Given the description of an element on the screen output the (x, y) to click on. 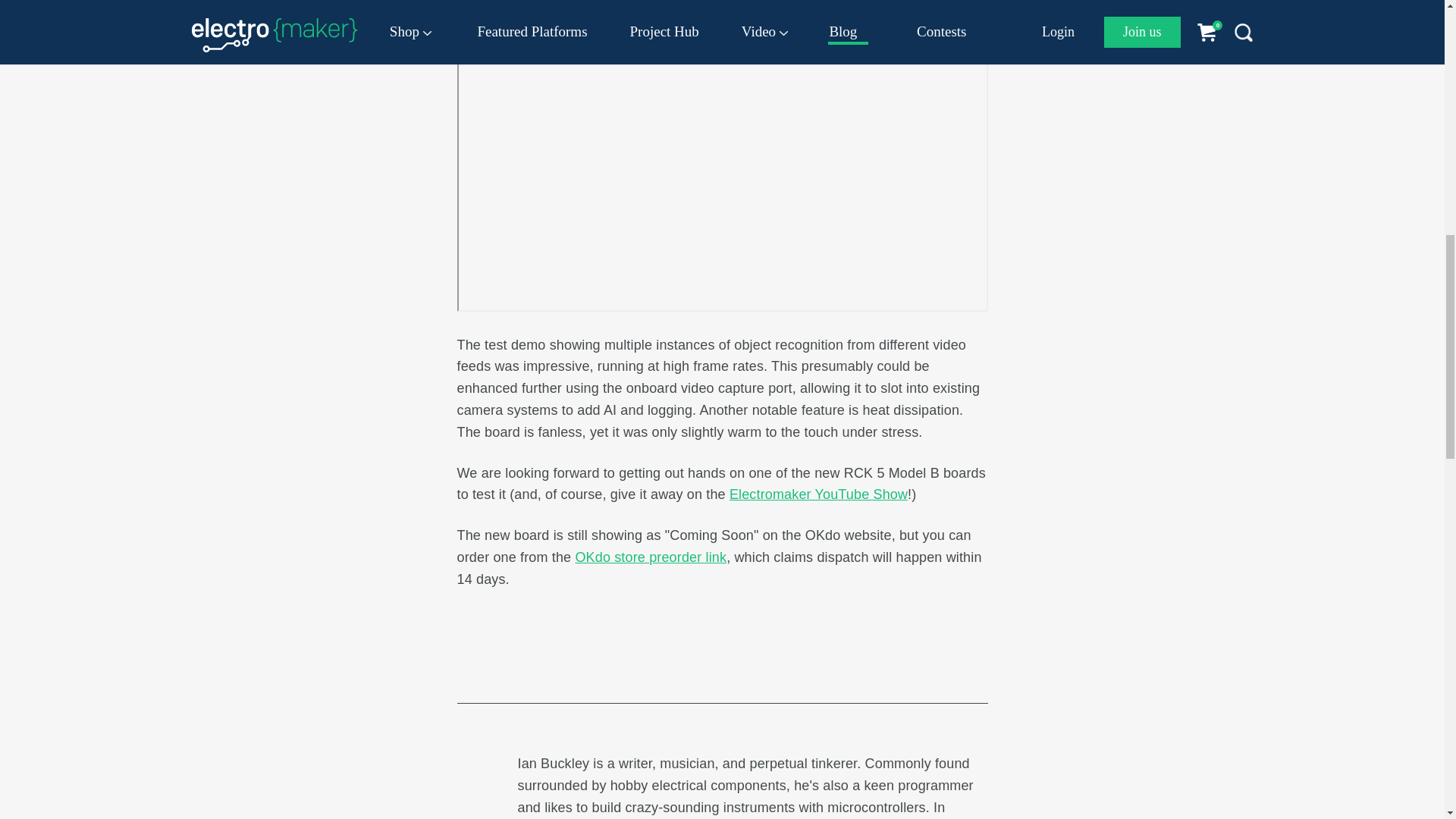
Share on Facebook (646, 663)
Share on Twitter (515, 663)
Share on LinkedIn (781, 663)
